Given the description of an element on the screen output the (x, y) to click on. 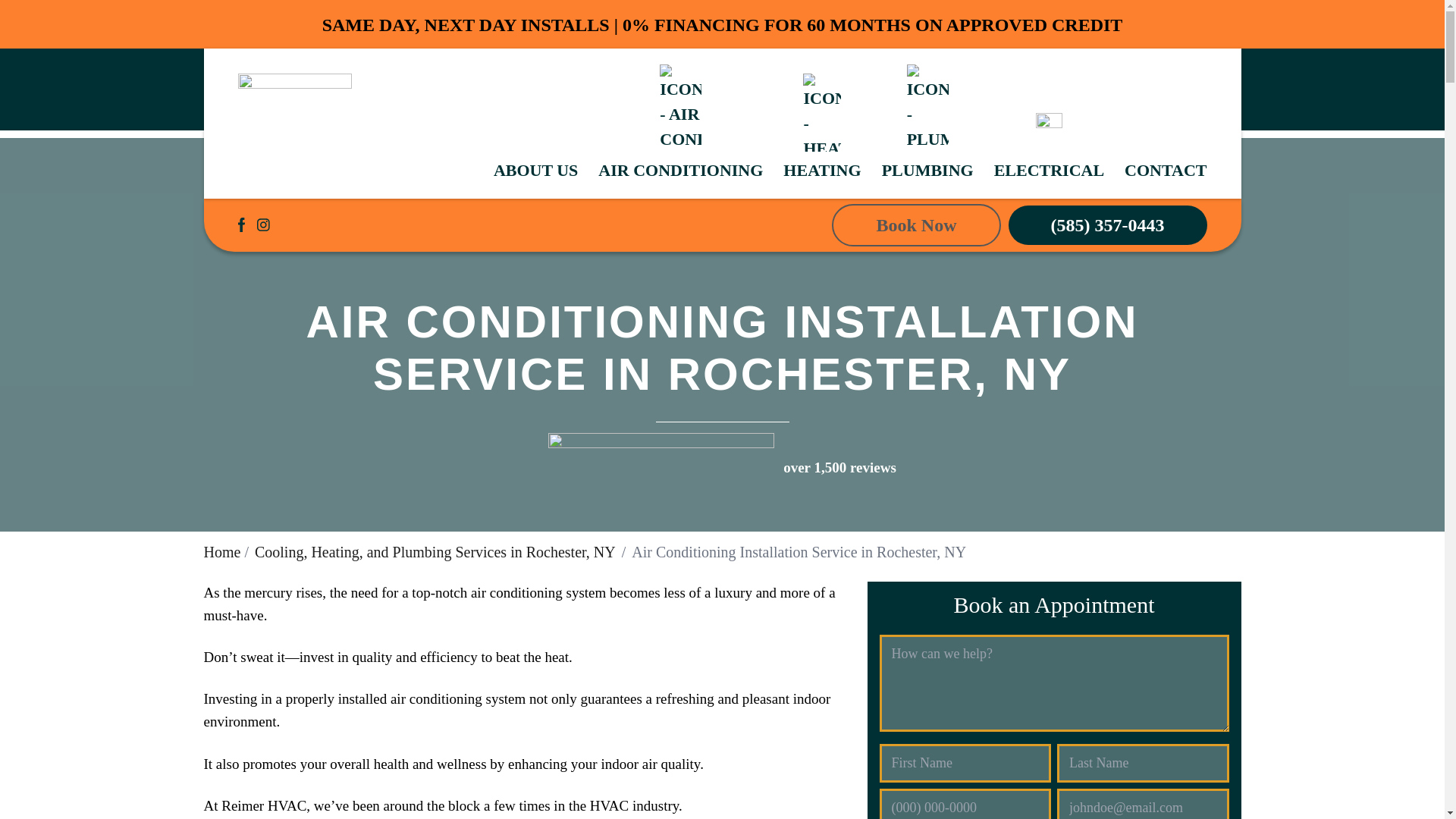
PLUMBING (928, 123)
AIR CONDITIONING (680, 123)
ABOUT US (535, 170)
HEATING (821, 127)
